Given the description of an element on the screen output the (x, y) to click on. 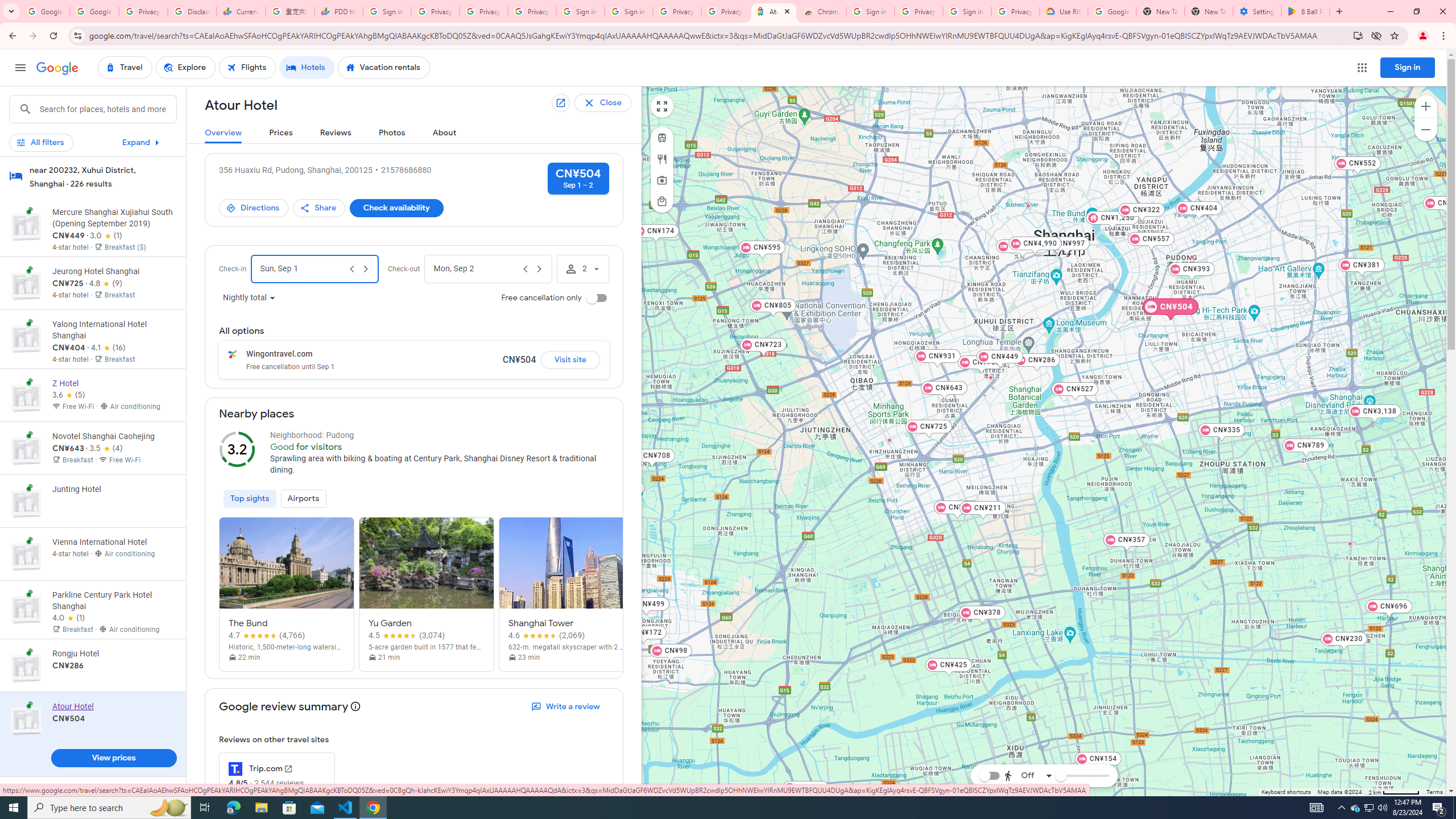
Parkline Century Park Hotel Shanghai (1191, 256)
Photos (392, 133)
Walk (1025, 718)
Currencies - Google Finance (240, 11)
Expand (142, 142)
Skip to main content (92, 147)
